Given the description of an element on the screen output the (x, y) to click on. 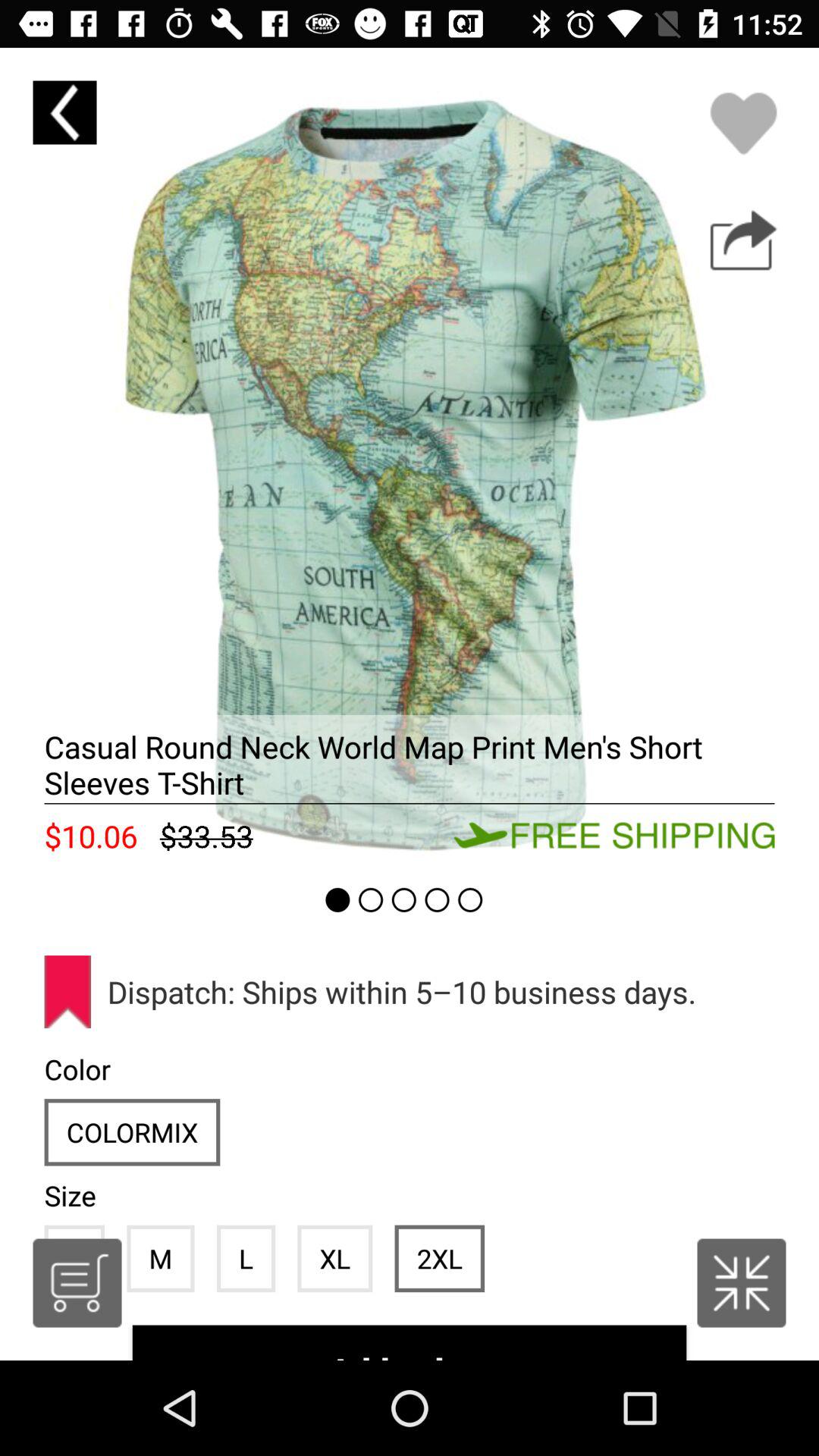
select to enlarge (741, 1282)
